Given the description of an element on the screen output the (x, y) to click on. 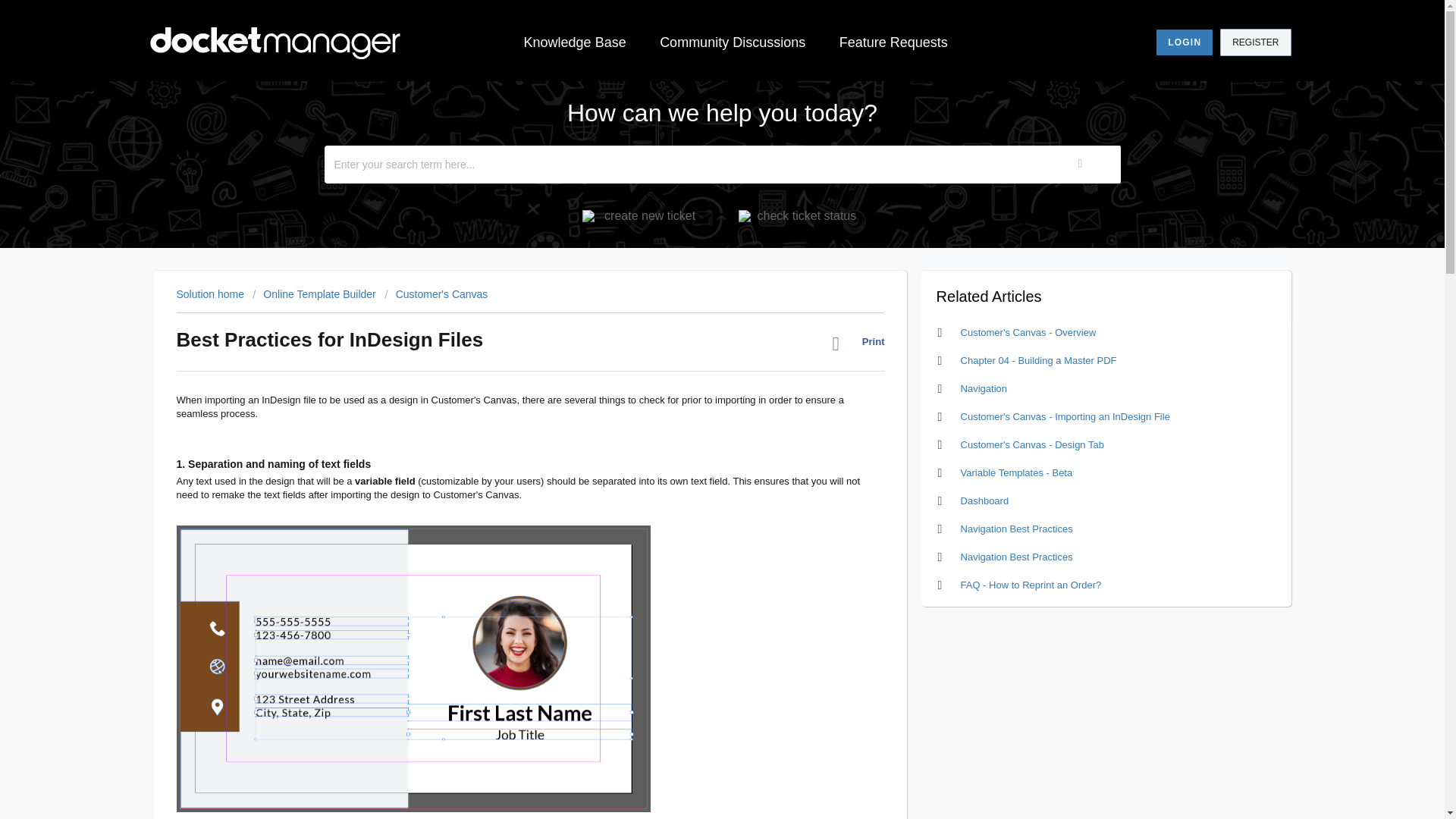
Dashboard (984, 500)
Feature Requests (893, 42)
REGISTER (1255, 42)
Online Template Builder (313, 294)
 check ticket status (800, 216)
Print this Article (858, 347)
Variable Templates - Beta (1016, 472)
Community Discussions (733, 42)
Navigation Best Practices (1016, 556)
Print (858, 347)
